Given the description of an element on the screen output the (x, y) to click on. 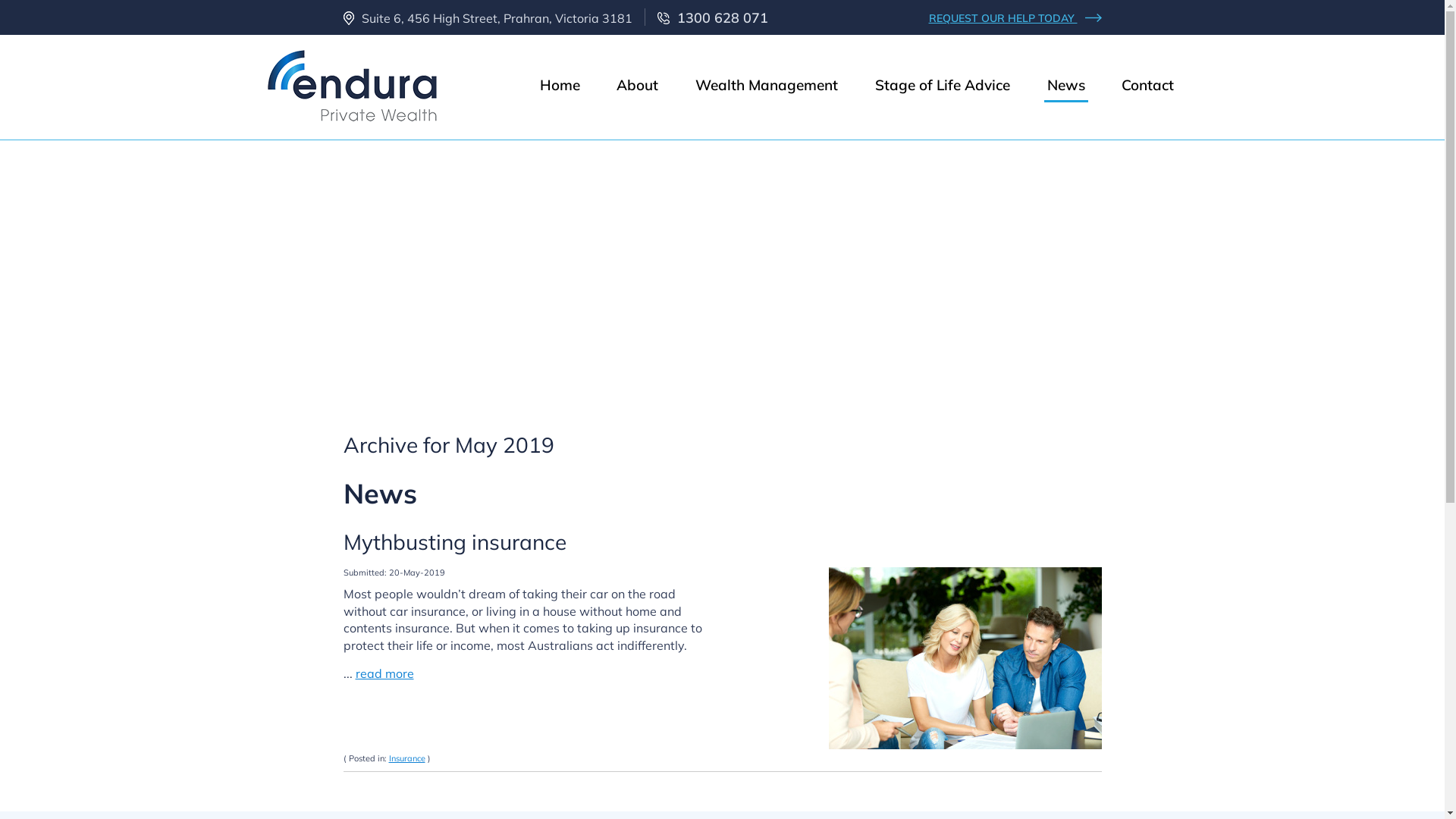
News Element type: text (1066, 85)
Stage of Life Advice Element type: text (942, 85)
read more Element type: text (383, 672)
1300 628 071 Element type: text (711, 17)
Home Element type: text (559, 85)
Contact Element type: text (1147, 85)
About Element type: text (637, 85)
Suite 6, 456 High Street, Prahran, Victoria 3181 Element type: text (486, 17)
Insurance Element type: text (406, 758)
Wealth Management Element type: text (766, 85)
REQUEST OUR HELP TODAY Element type: text (1014, 18)
Mythbusting insurance Element type: text (453, 541)
